Given the description of an element on the screen output the (x, y) to click on. 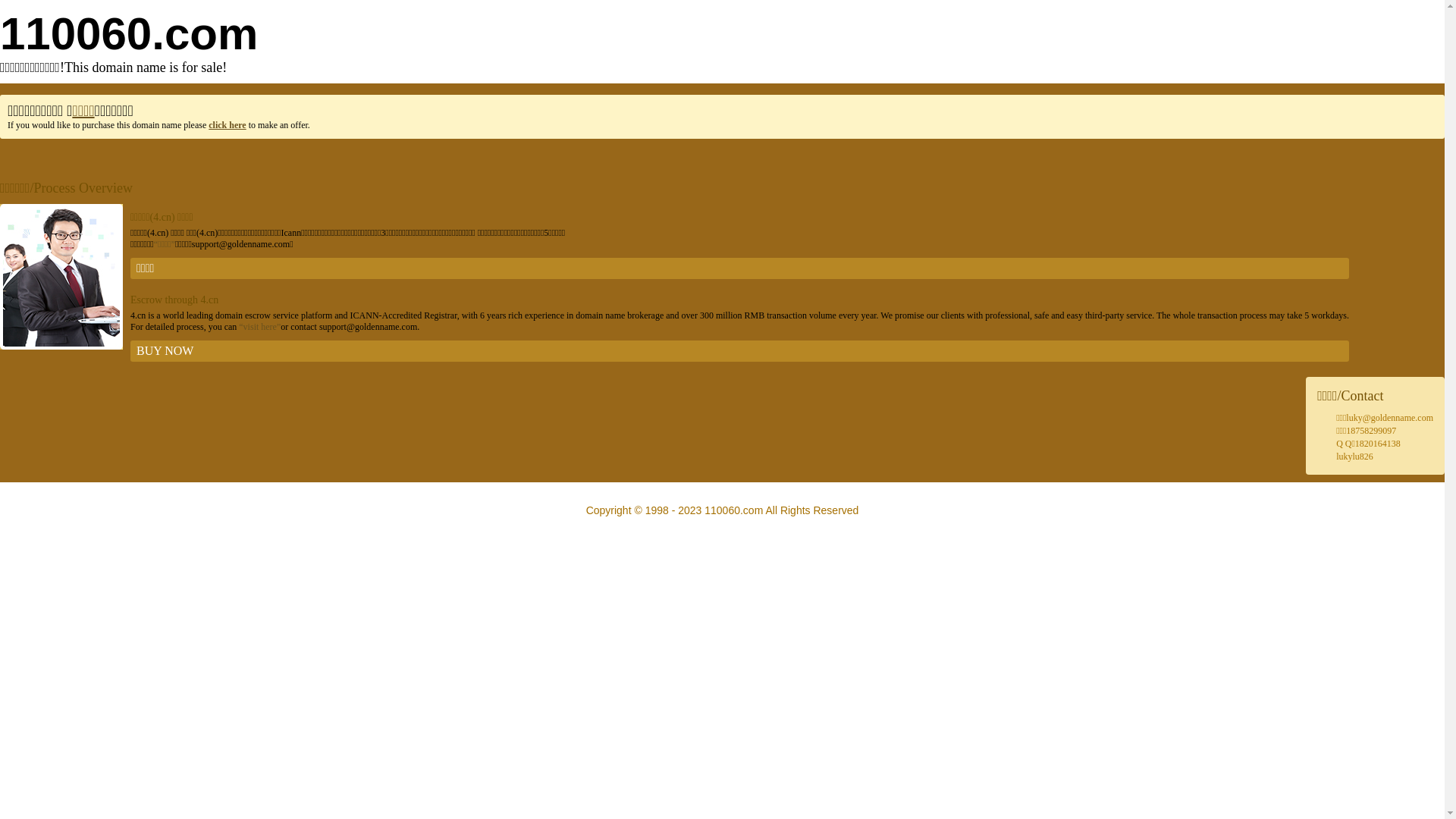
click here Element type: text (226, 124)
BUY NOW Element type: text (739, 350)
